Given the description of an element on the screen output the (x, y) to click on. 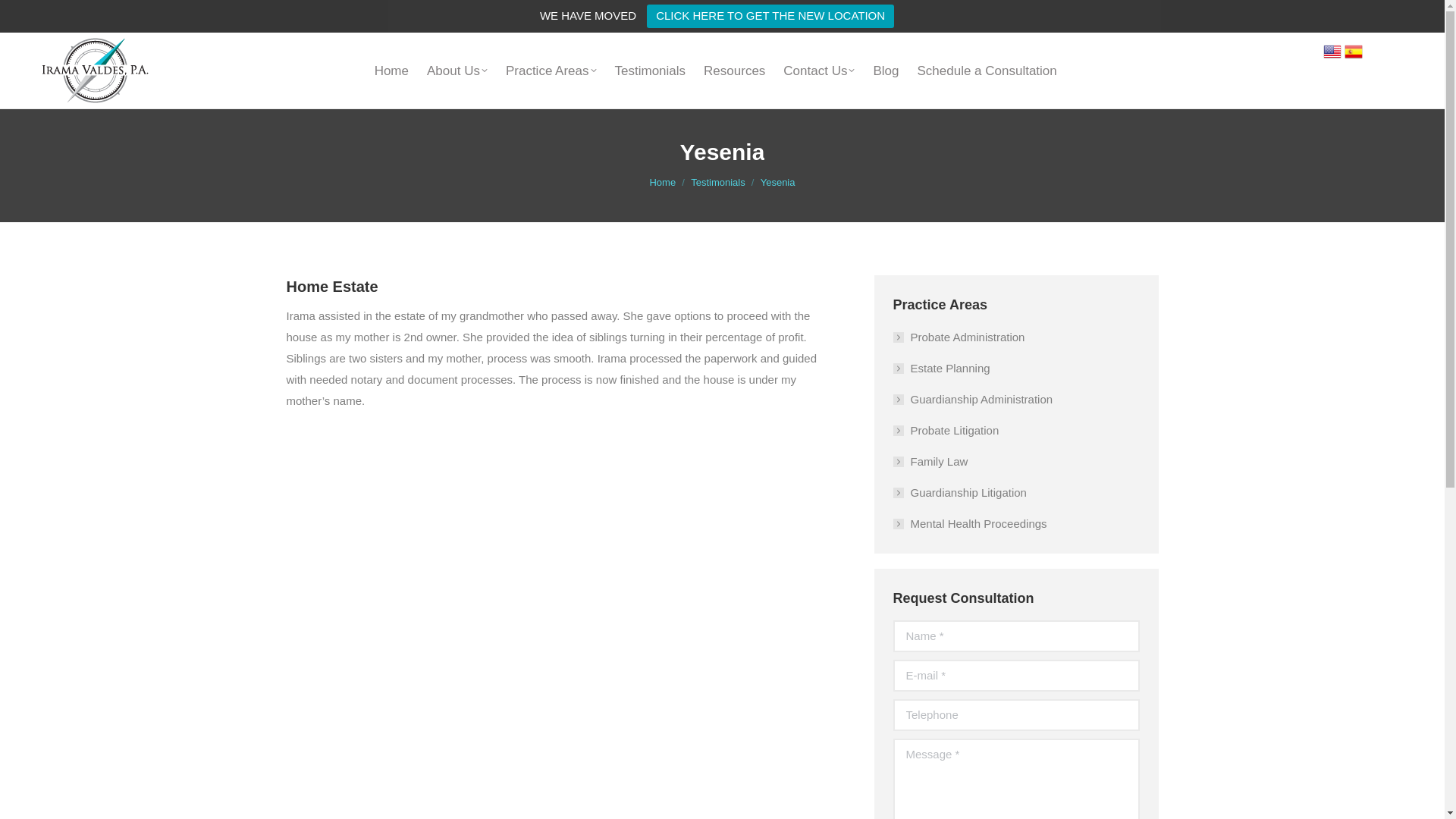
Practice Areas (550, 70)
About Us (457, 70)
Testimonials (650, 70)
Home (662, 182)
CLICK HERE TO GET THE NEW LOCATION (769, 15)
Resources (734, 70)
Contact Us (818, 70)
Blog (885, 70)
Schedule a Consultation (985, 70)
Testimonials (717, 182)
